Given the description of an element on the screen output the (x, y) to click on. 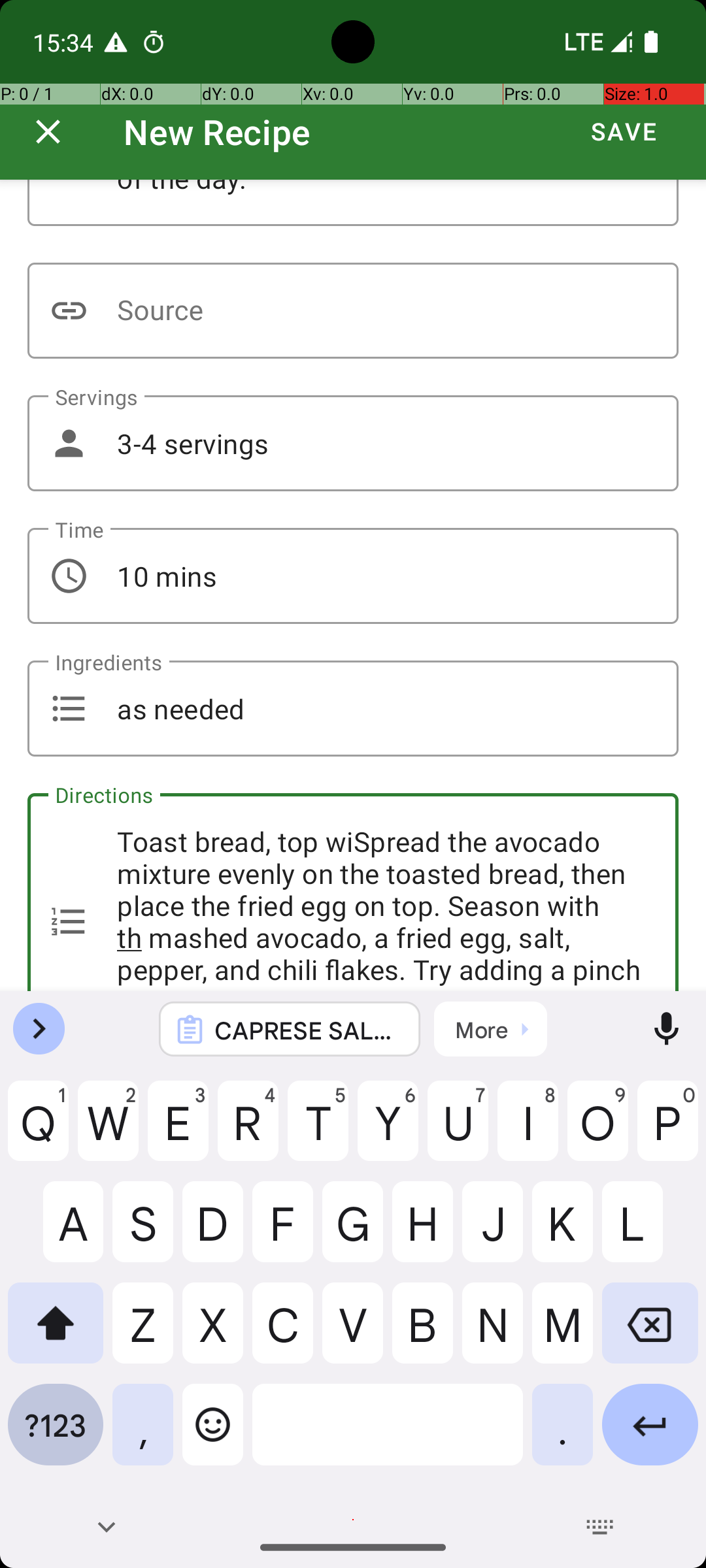
Source Element type: android.widget.EditText (352, 310)
10 mins Element type: android.widget.EditText (352, 575)
as needed Element type: android.widget.EditText (352, 708)
Toast bread, top wiSpread the avocado mixture evenly on the toasted bread, then place the fried egg on top. Season with
th mashed avocado, a fried egg, salt, pepper, and chili flakes. Try adding a pinch of your favorite spices for extra flavor. Element type: android.widget.EditText (352, 892)
CAPRESE SALAD SKEWERS  Servings: 1 serving Time: 45 mins  A quick and easy meal, perfect for busy weekdays.  Ingredients: - n/a  Directions: 1. Thread cherry tomatoes, basil leaves, and mozzarella balls onto skewers. Drizzle with balsamic glaze. Feel free to substitute with ingredients you have on hand.  Shared with https://play.google.com/store/apps/details?id=com.flauschcode.broccoli Element type: android.widget.TextView (306, 1029)
